Given the description of an element on the screen output the (x, y) to click on. 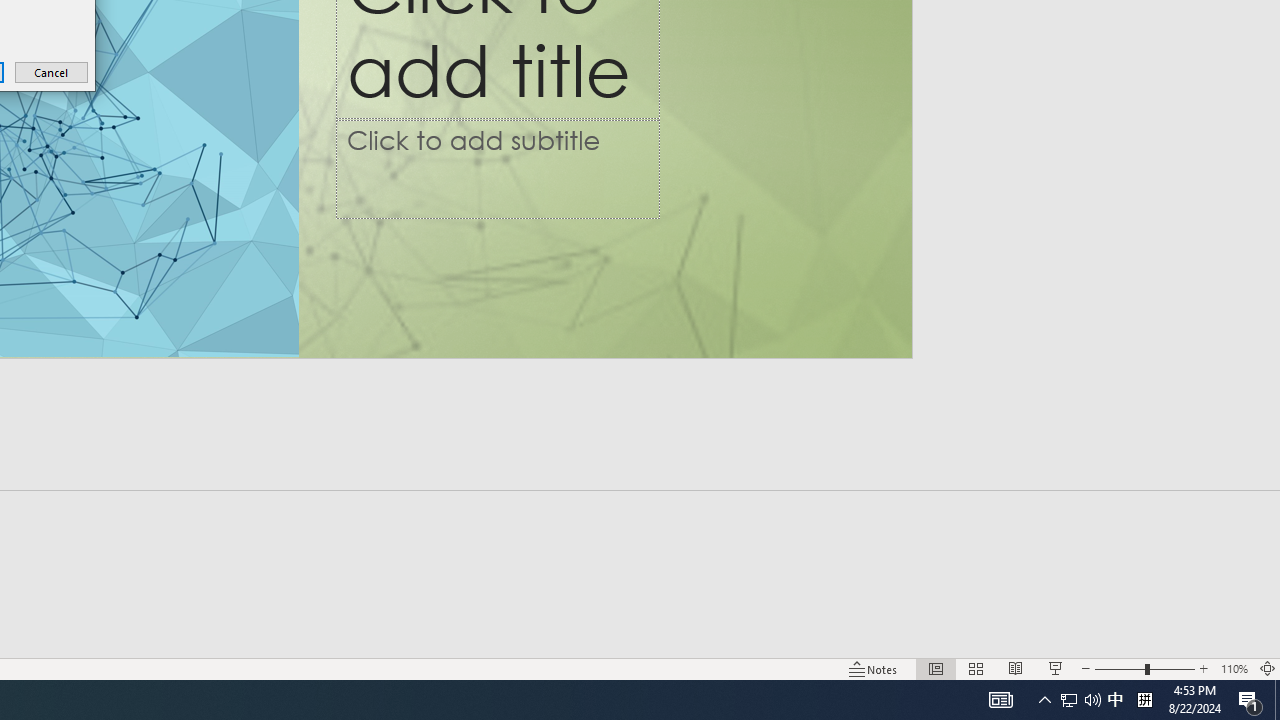
Zoom 110% (1234, 668)
